Given the description of an element on the screen output the (x, y) to click on. 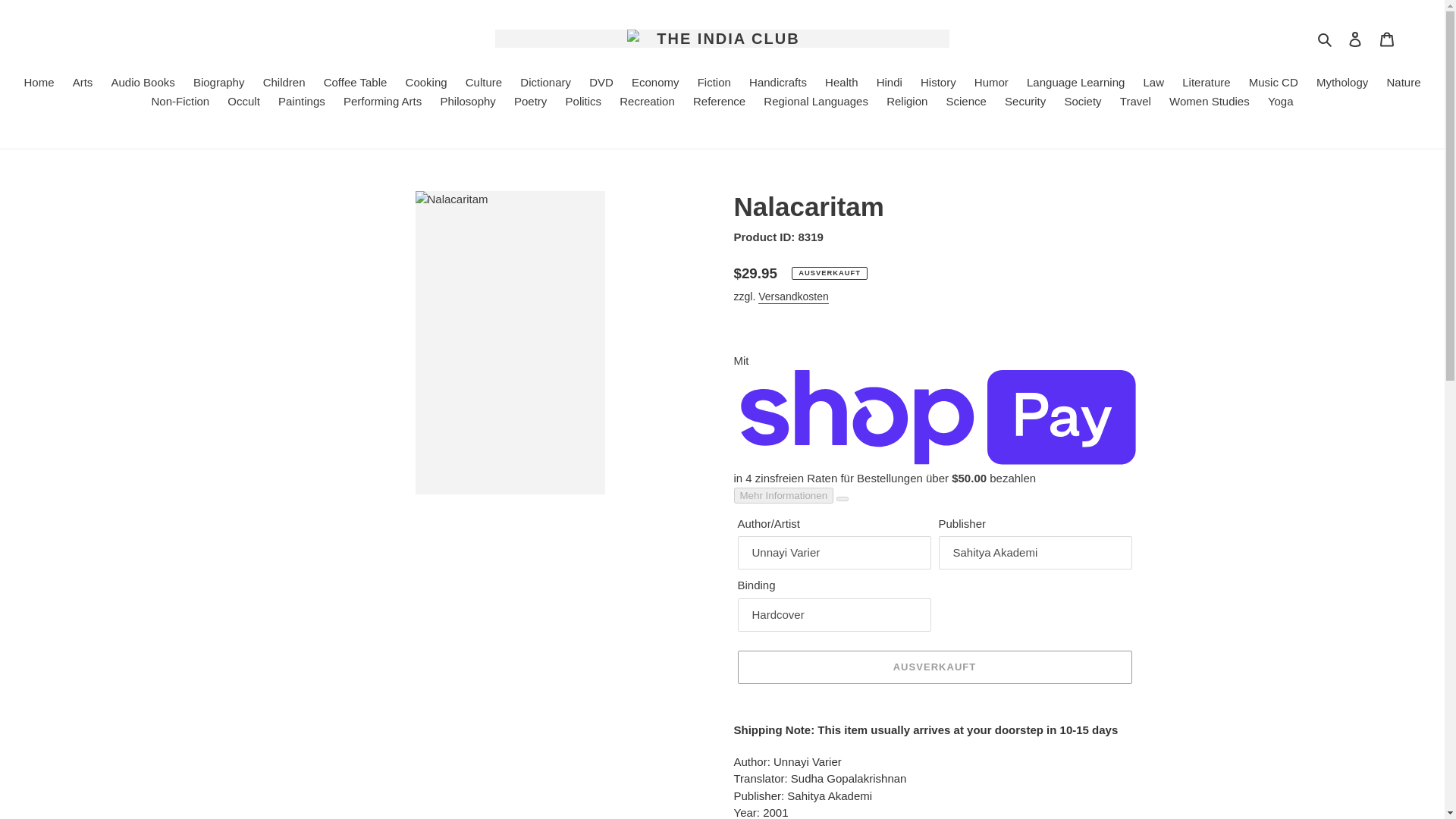
Suchen (1326, 38)
Warenkorb (1387, 38)
Einloggen (1355, 38)
